Given the description of an element on the screen output the (x, y) to click on. 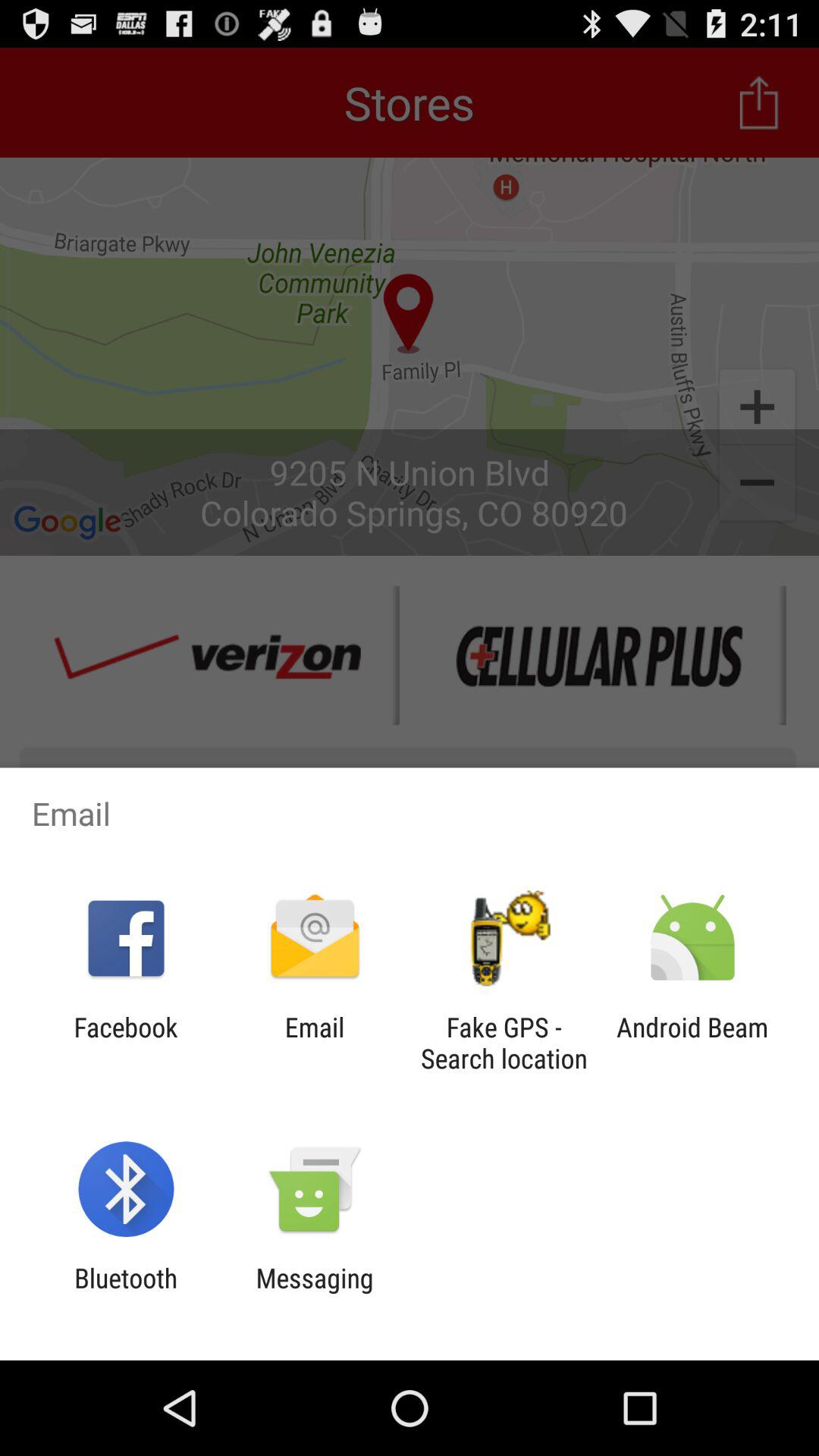
choose messaging icon (314, 1293)
